Given the description of an element on the screen output the (x, y) to click on. 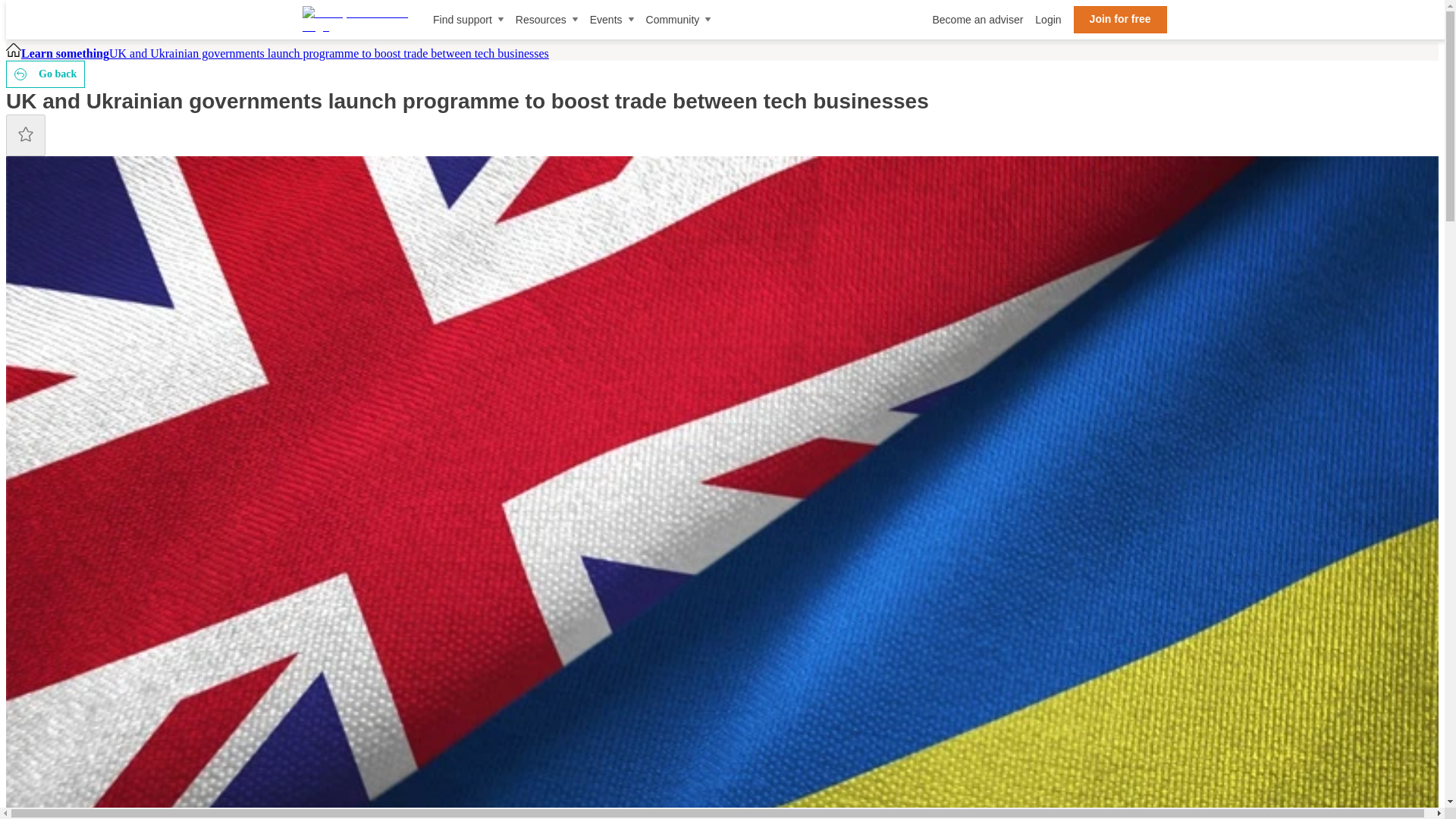
Learn something (65, 52)
Events (611, 19)
Resources (546, 19)
Join for free (1120, 19)
Go back (44, 73)
Find support (467, 19)
Become an adviser (977, 19)
Learn something (65, 52)
Community (678, 19)
Home (13, 52)
Login (1048, 19)
